Given the description of an element on the screen output the (x, y) to click on. 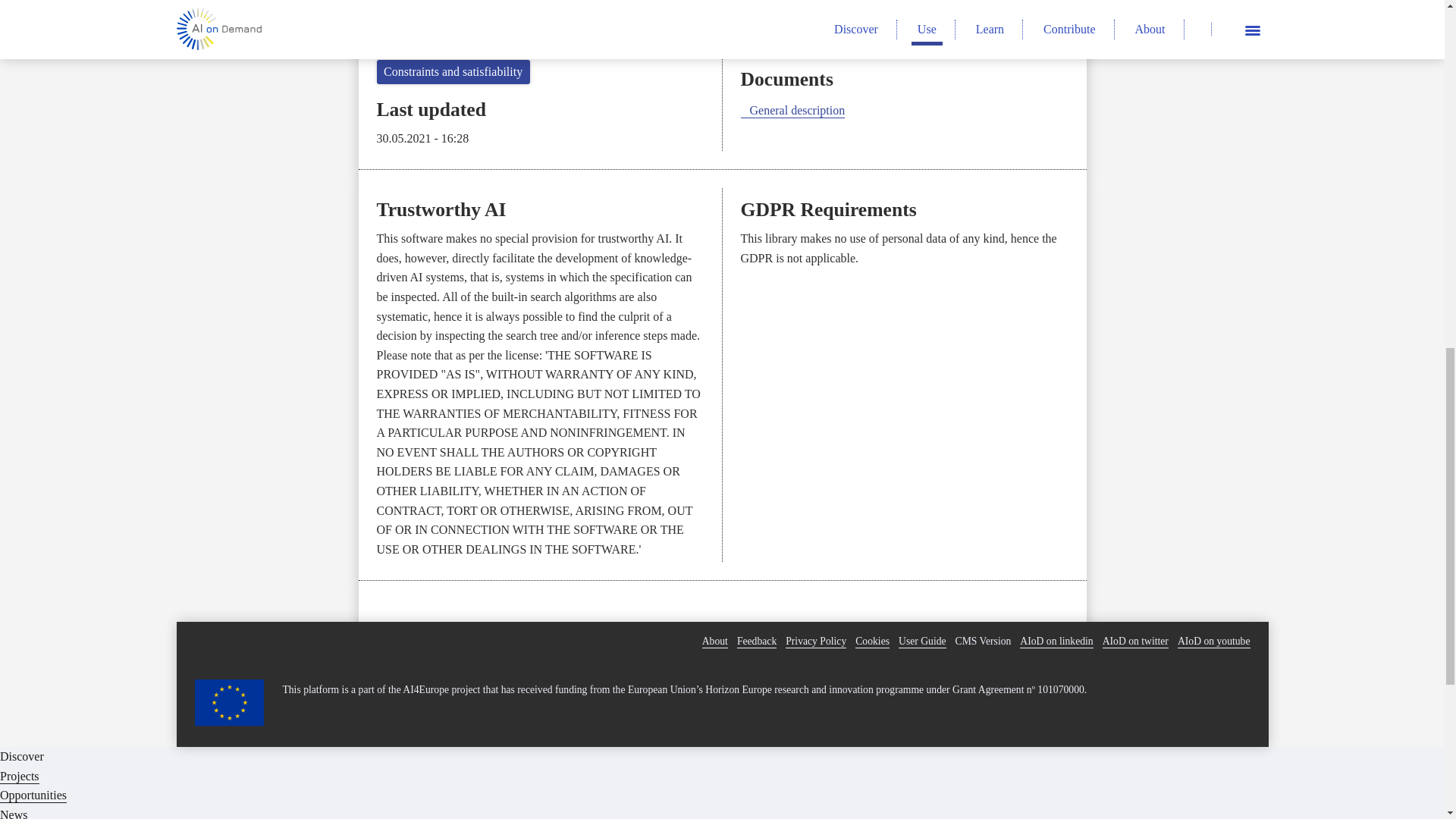
AIoD on youtube (1213, 641)
AIoD on linkedin (1056, 641)
About (714, 641)
AI-on-Demand Platform Feedback (756, 641)
Privacy Policy (815, 641)
User Guide (922, 641)
Opportunities (33, 795)
AIoD on twitter (1135, 641)
Constraints and satisfiability (452, 71)
Projects (19, 776)
